Given the description of an element on the screen output the (x, y) to click on. 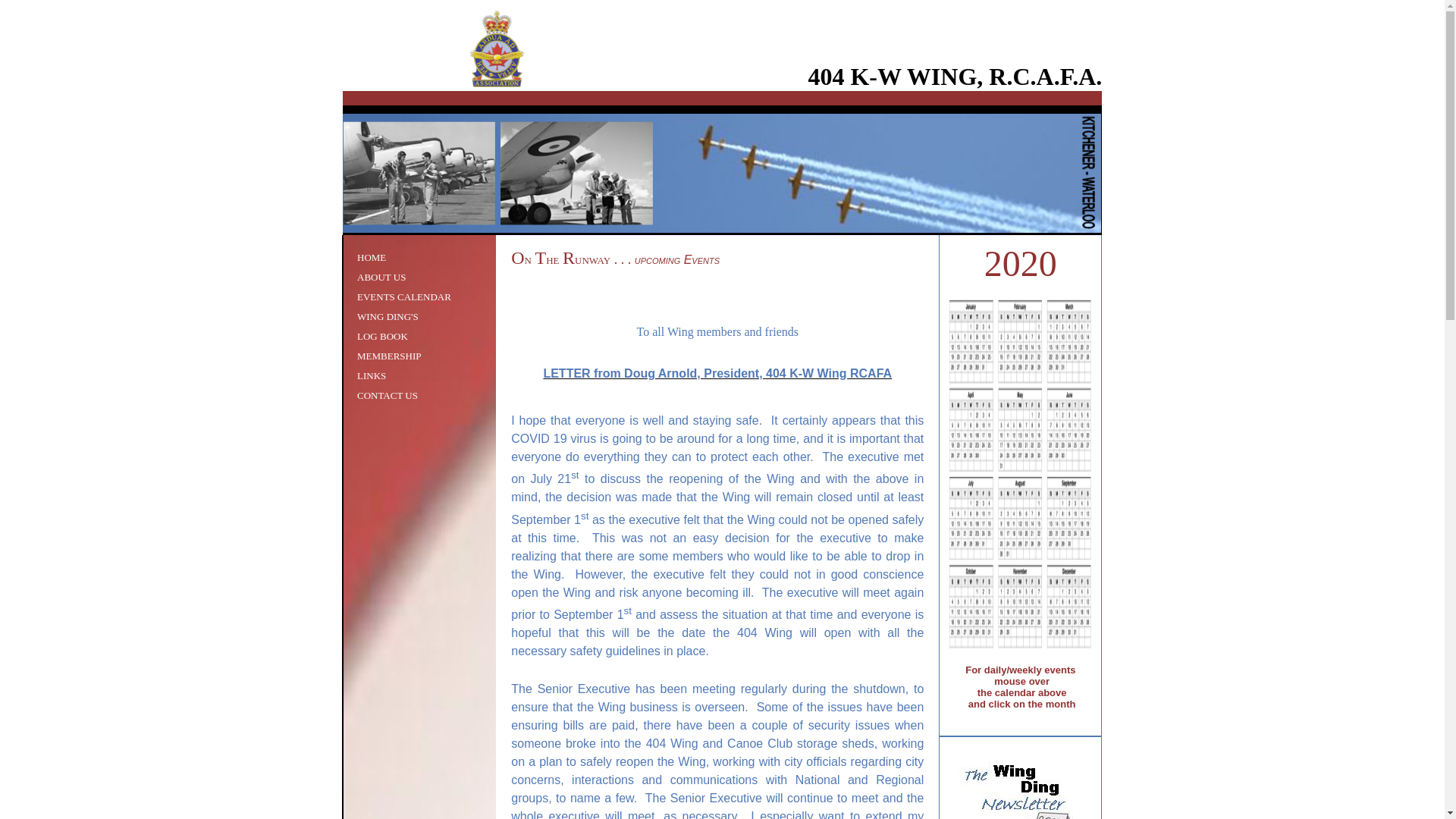
EVENTS CALENDAR Element type: text (404, 296)
LOG BOOK Element type: text (382, 336)
HOME Element type: text (371, 257)
ABOUT US Element type: text (381, 276)
LINKS Element type: text (371, 375)
MEMBERSHIP Element type: text (389, 355)
WING DING'S Element type: text (387, 316)
CONTACT US Element type: text (387, 395)
